Given the description of an element on the screen output the (x, y) to click on. 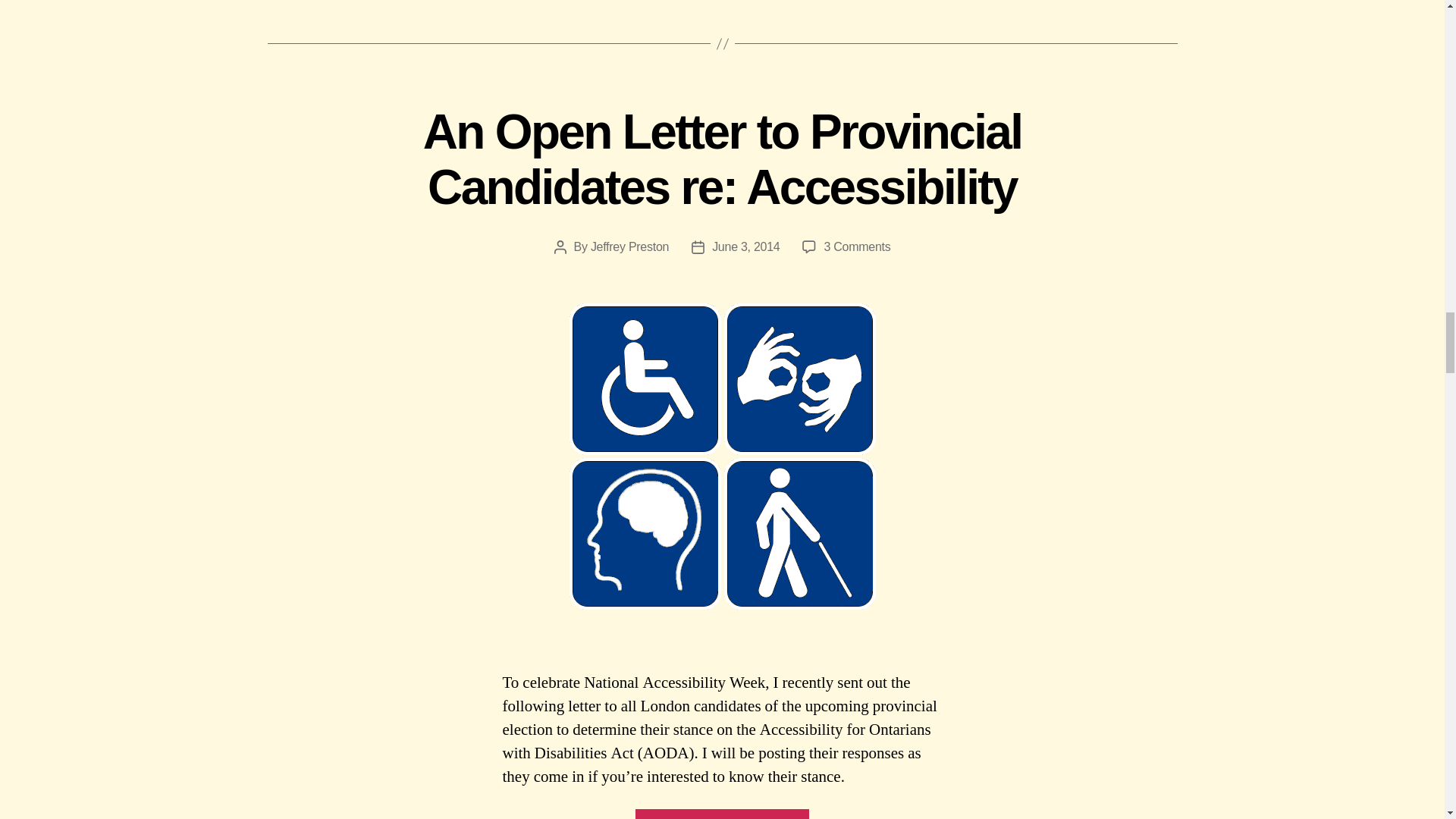
An Open Letter to Provincial Candidates re: Accessibility (722, 159)
